Given the description of an element on the screen output the (x, y) to click on. 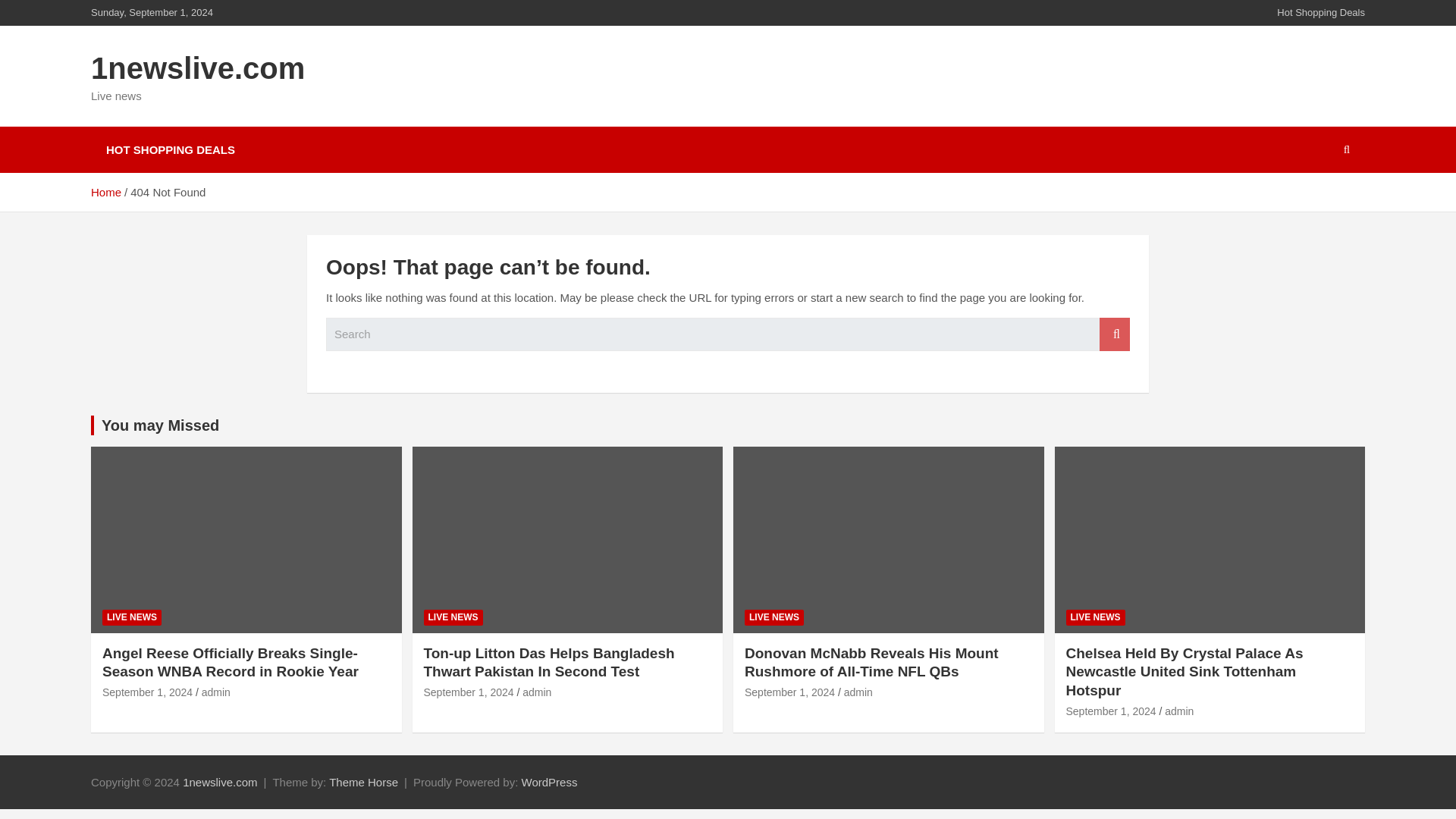
LIVE NEWS (131, 617)
September 1, 2024 (146, 692)
Theme Horse (363, 781)
1newslive.com (220, 781)
admin (536, 692)
September 1, 2024 (1110, 711)
